Given the description of an element on the screen output the (x, y) to click on. 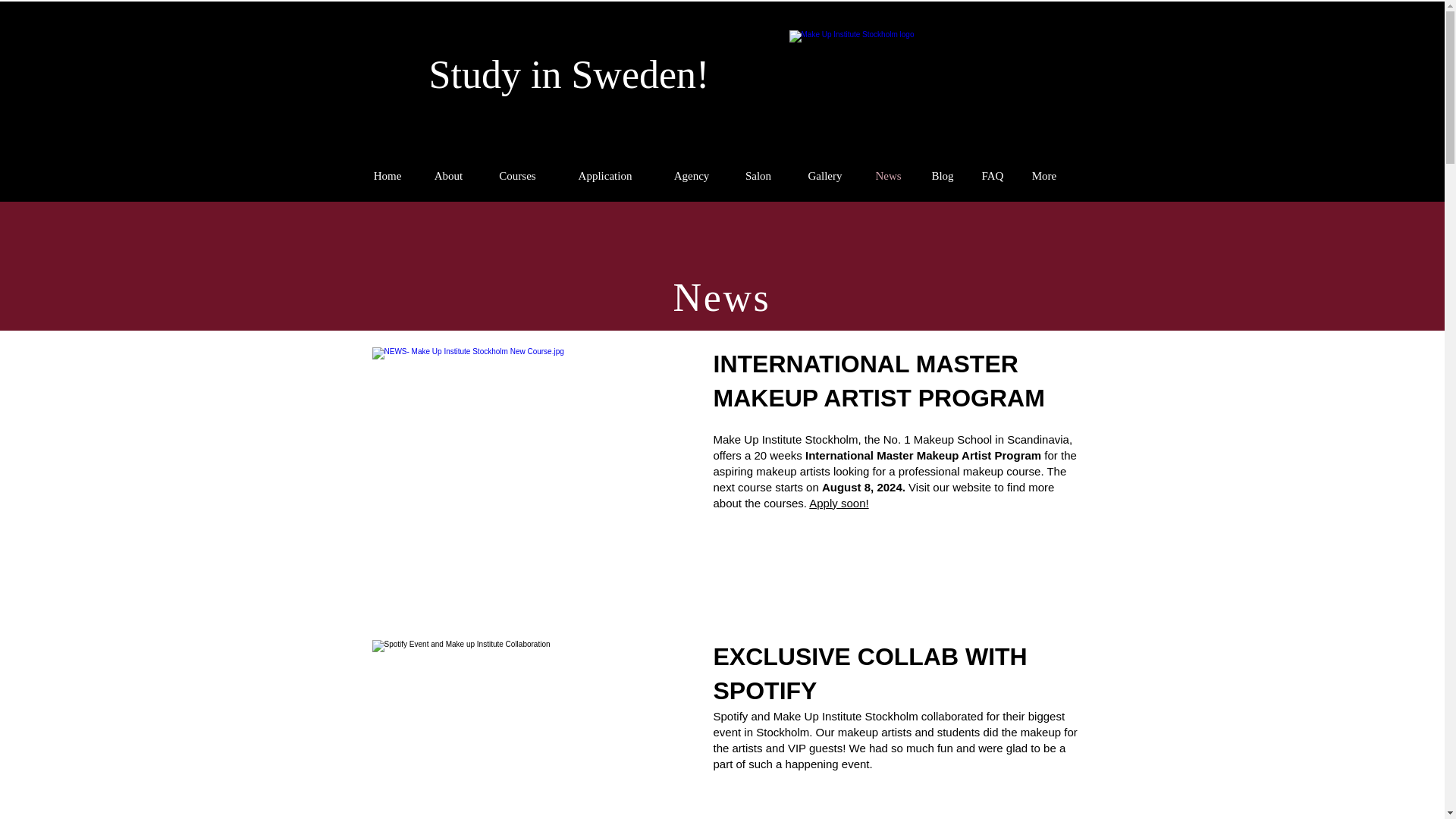
Agency (690, 175)
Courses (517, 175)
Apply soon! (838, 502)
Gallery (824, 175)
Blog (942, 175)
About (448, 175)
News (888, 175)
Salon (758, 175)
Application (605, 175)
FAQ (991, 175)
